Given the description of an element on the screen output the (x, y) to click on. 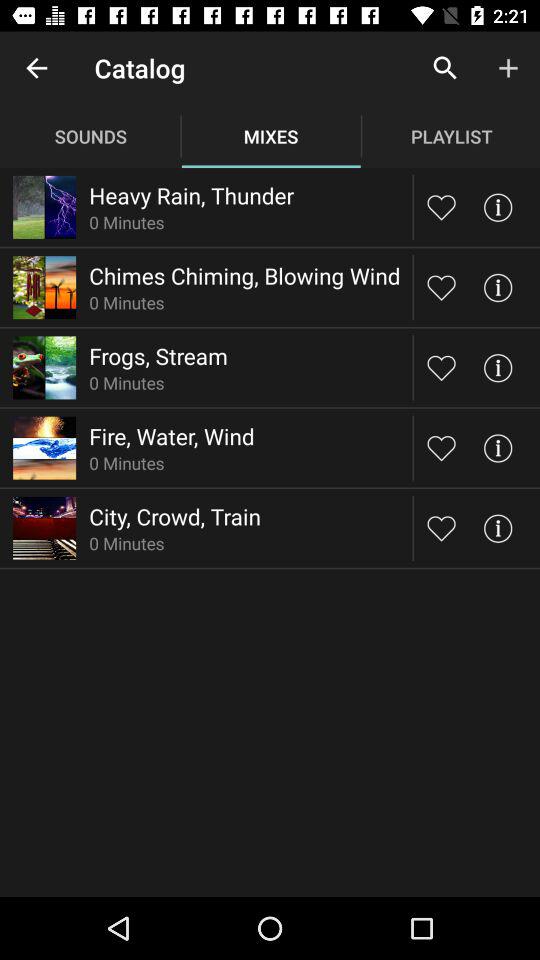
information for frogs stream (498, 367)
